Given the description of an element on the screen output the (x, y) to click on. 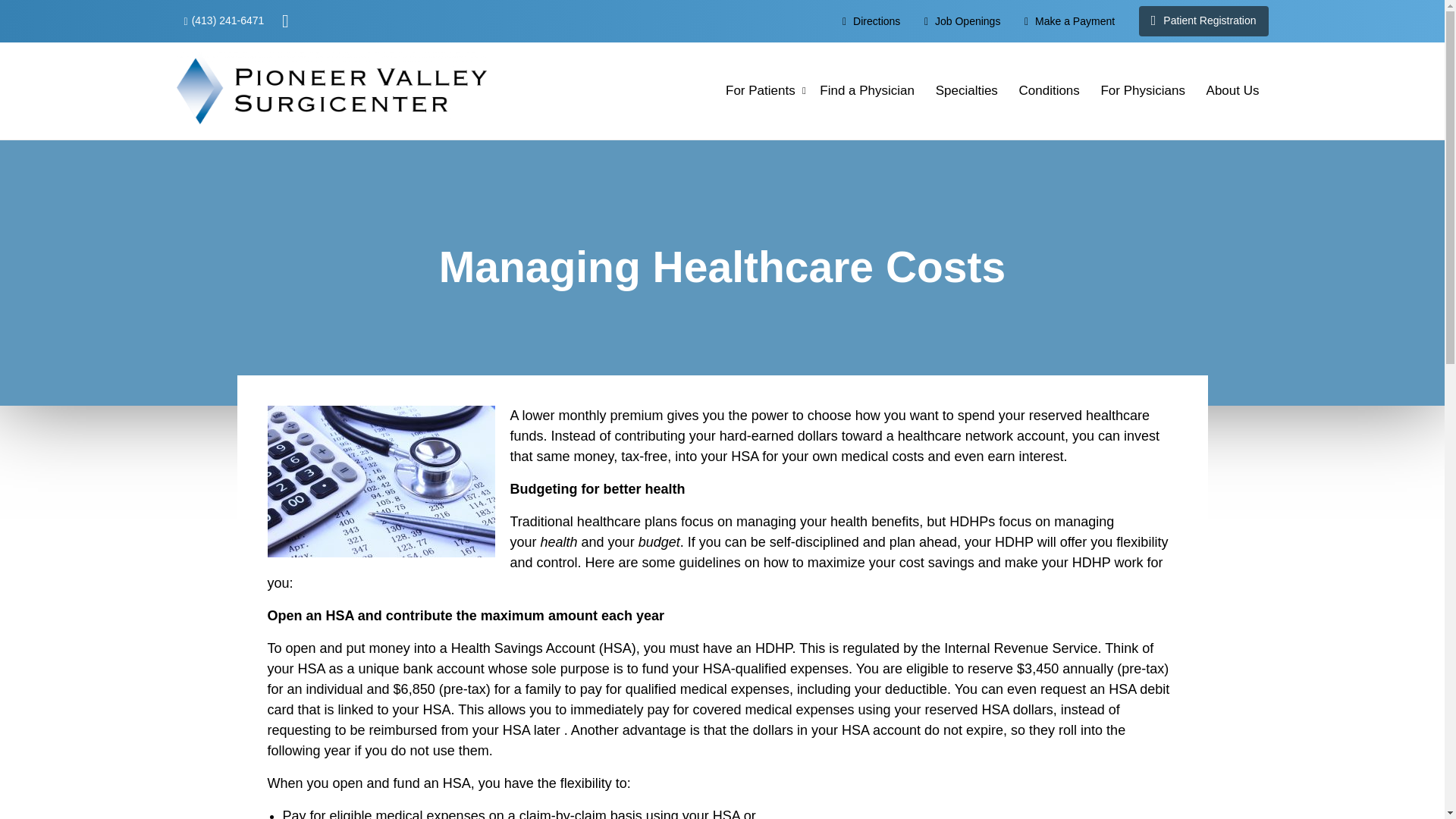
For Patients (760, 90)
Find a Physician (866, 90)
Patient Registration (1203, 20)
Job Openings (962, 20)
For Physicians (1141, 90)
Make a Payment (1070, 20)
Pioneer Valley Surgicenter (331, 87)
Directions (871, 20)
